Given the description of an element on the screen output the (x, y) to click on. 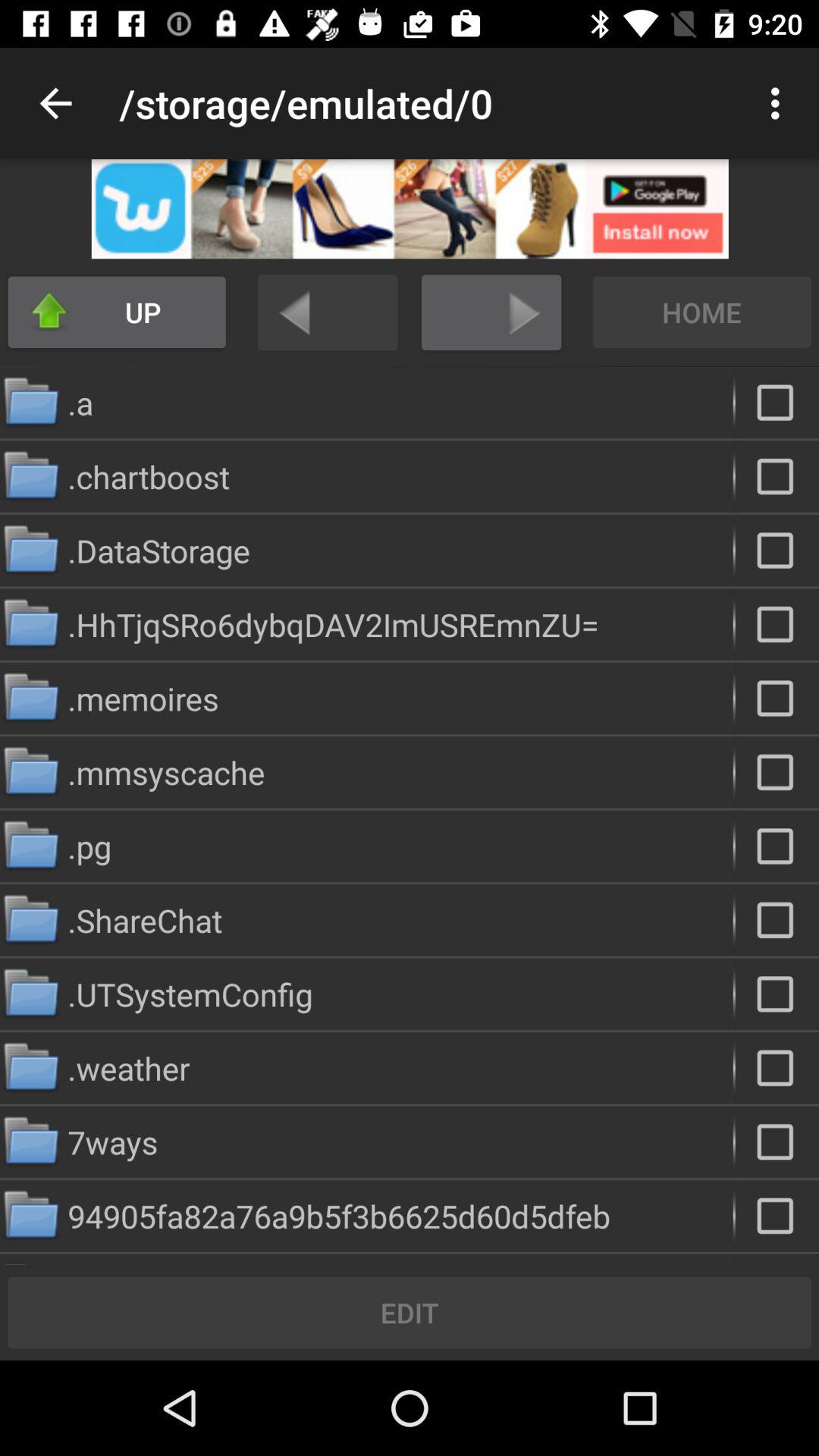
select folder (777, 402)
